Given the description of an element on the screen output the (x, y) to click on. 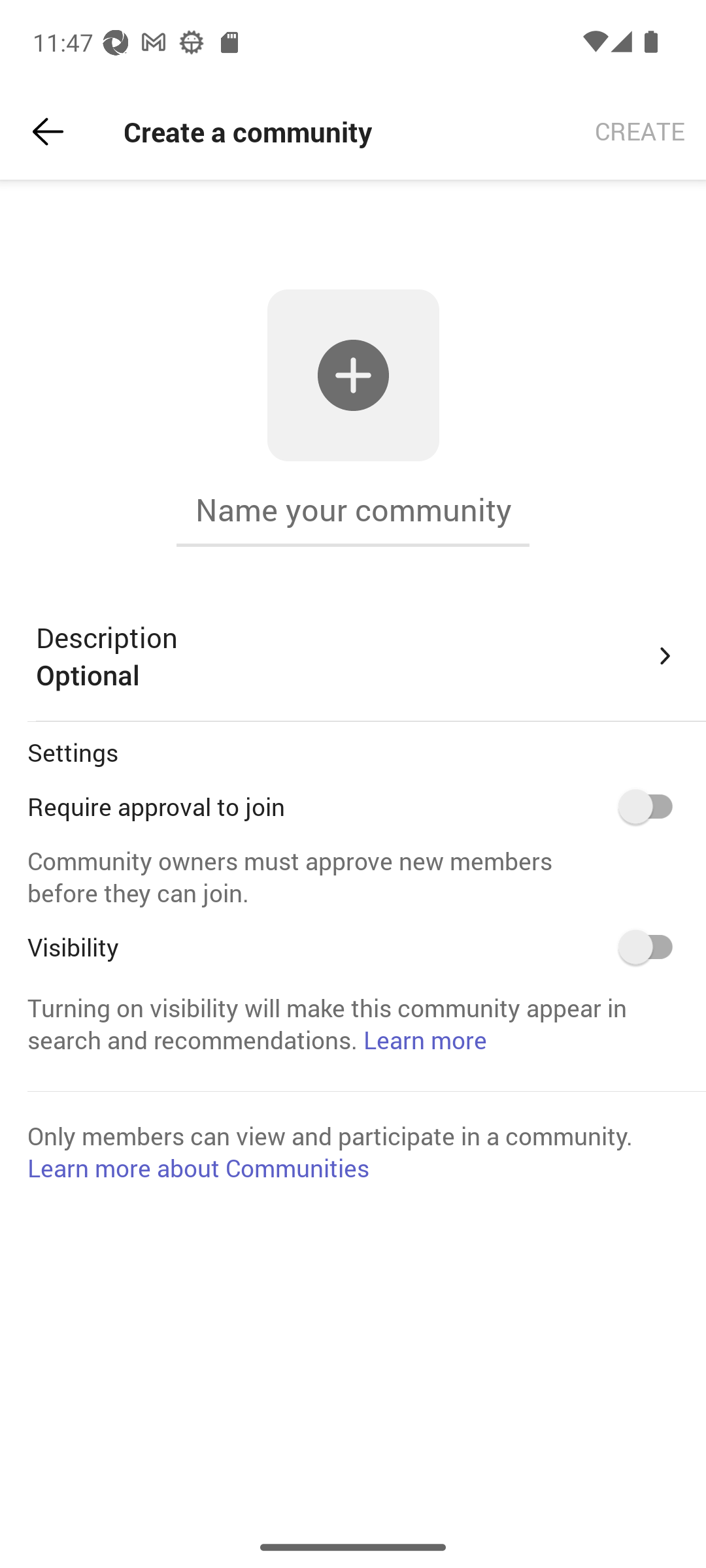
Back (48, 131)
CREATE (639, 131)
Add community image (353, 375)
Name your community (352, 509)
Description Optional (357, 656)
Require approval to join (652, 806)
Visibility (652, 946)
